Given the description of an element on the screen output the (x, y) to click on. 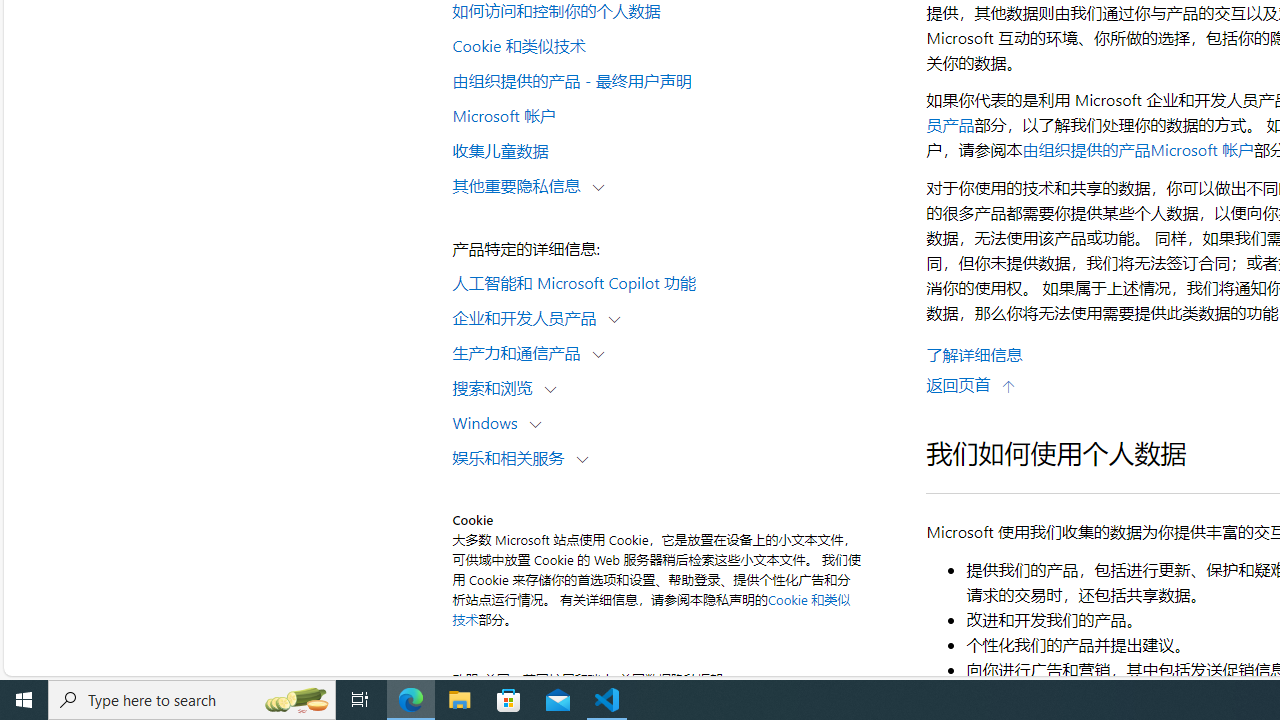
Windows (489, 421)
